Given the description of an element on the screen output the (x, y) to click on. 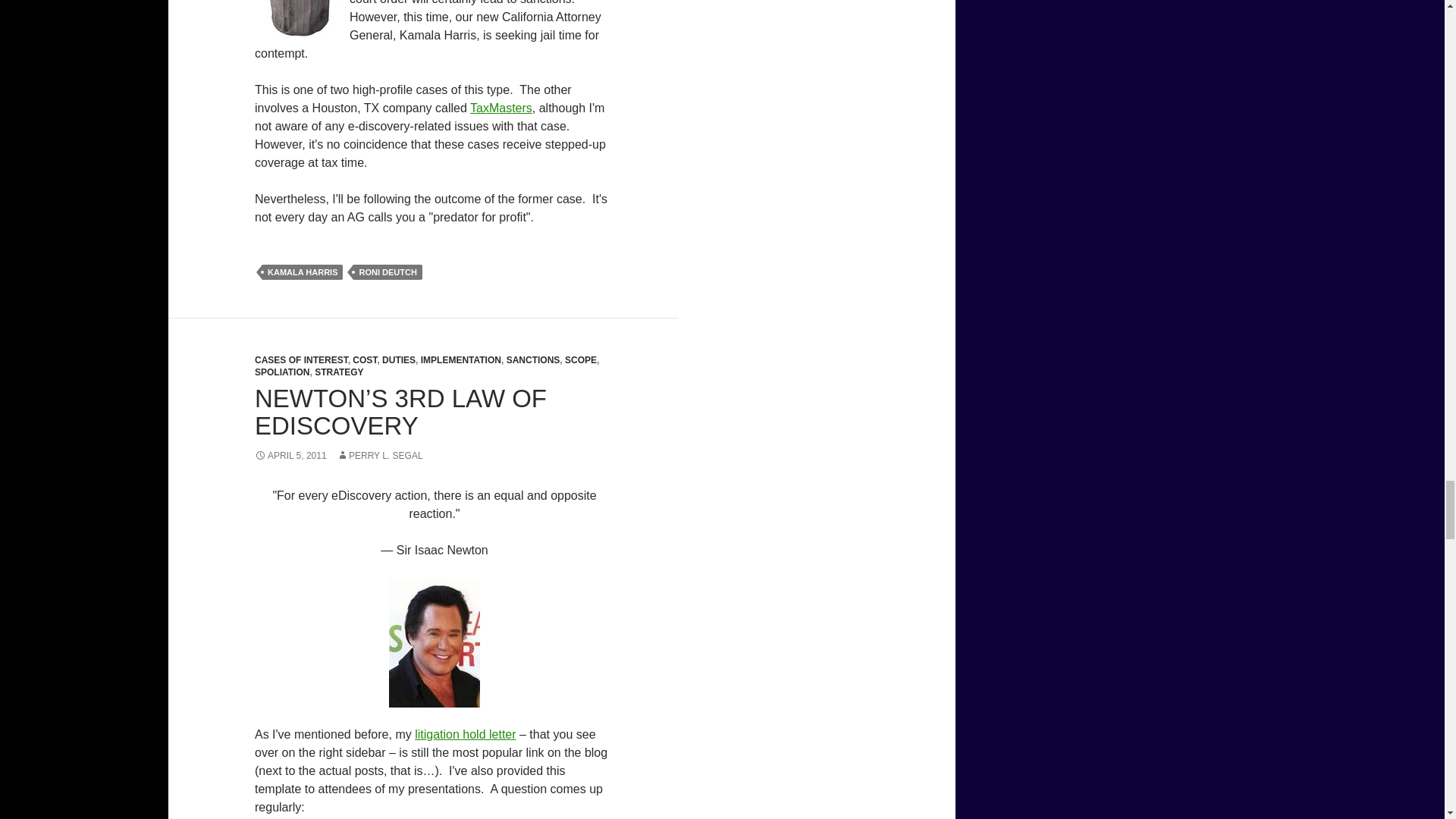
MP900314122 (300, 20)
